Given the description of an element on the screen output the (x, y) to click on. 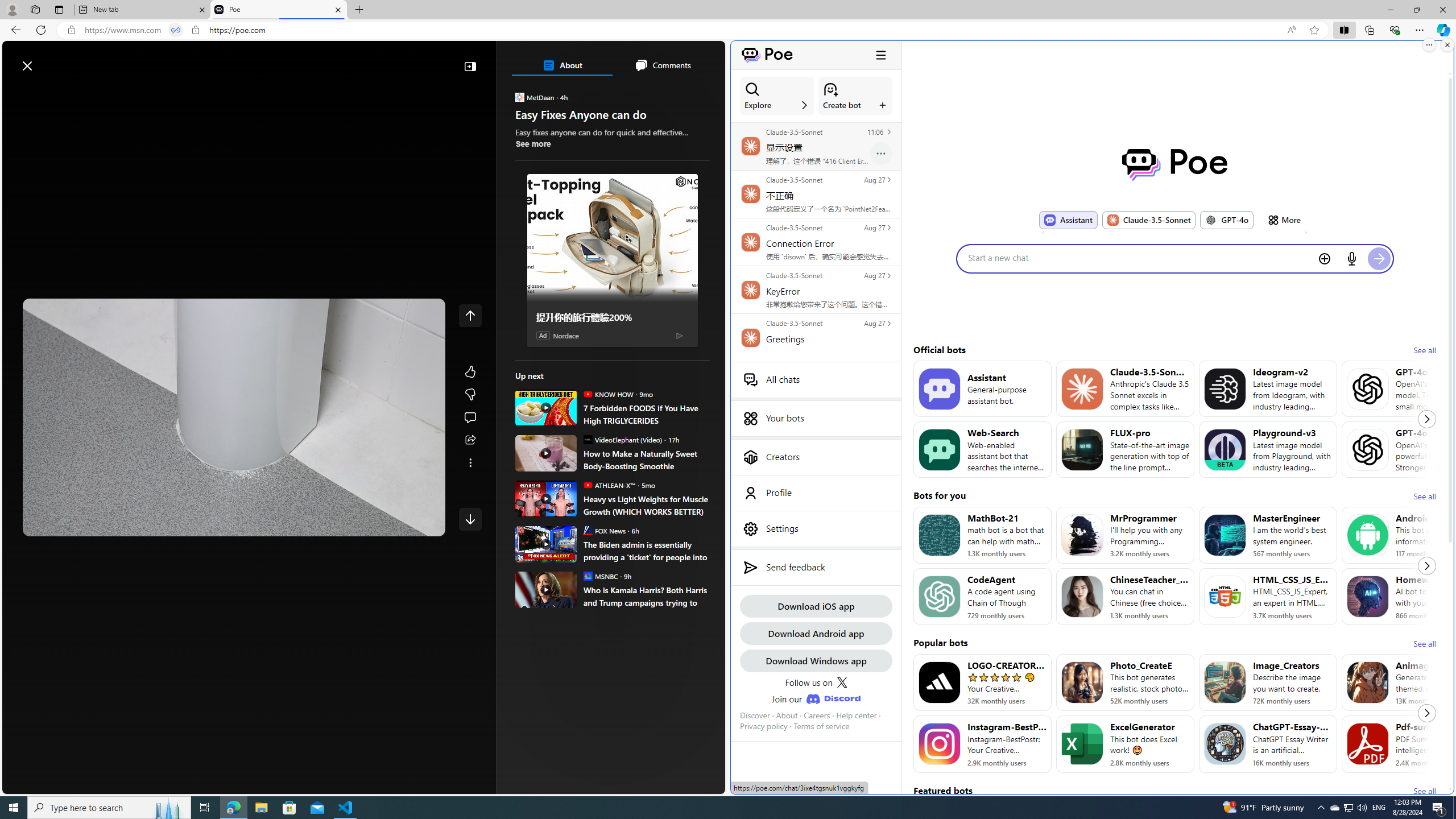
VideoElephant (Video) (587, 438)
Privacy policy (763, 726)
Class: ManageBotsCardSection_createBotIcon__9JUYg (830, 89)
Profile (815, 493)
Download iOS app (815, 605)
Creators (815, 456)
Pause (39, 523)
More options. (1428, 45)
